Given the description of an element on the screen output the (x, y) to click on. 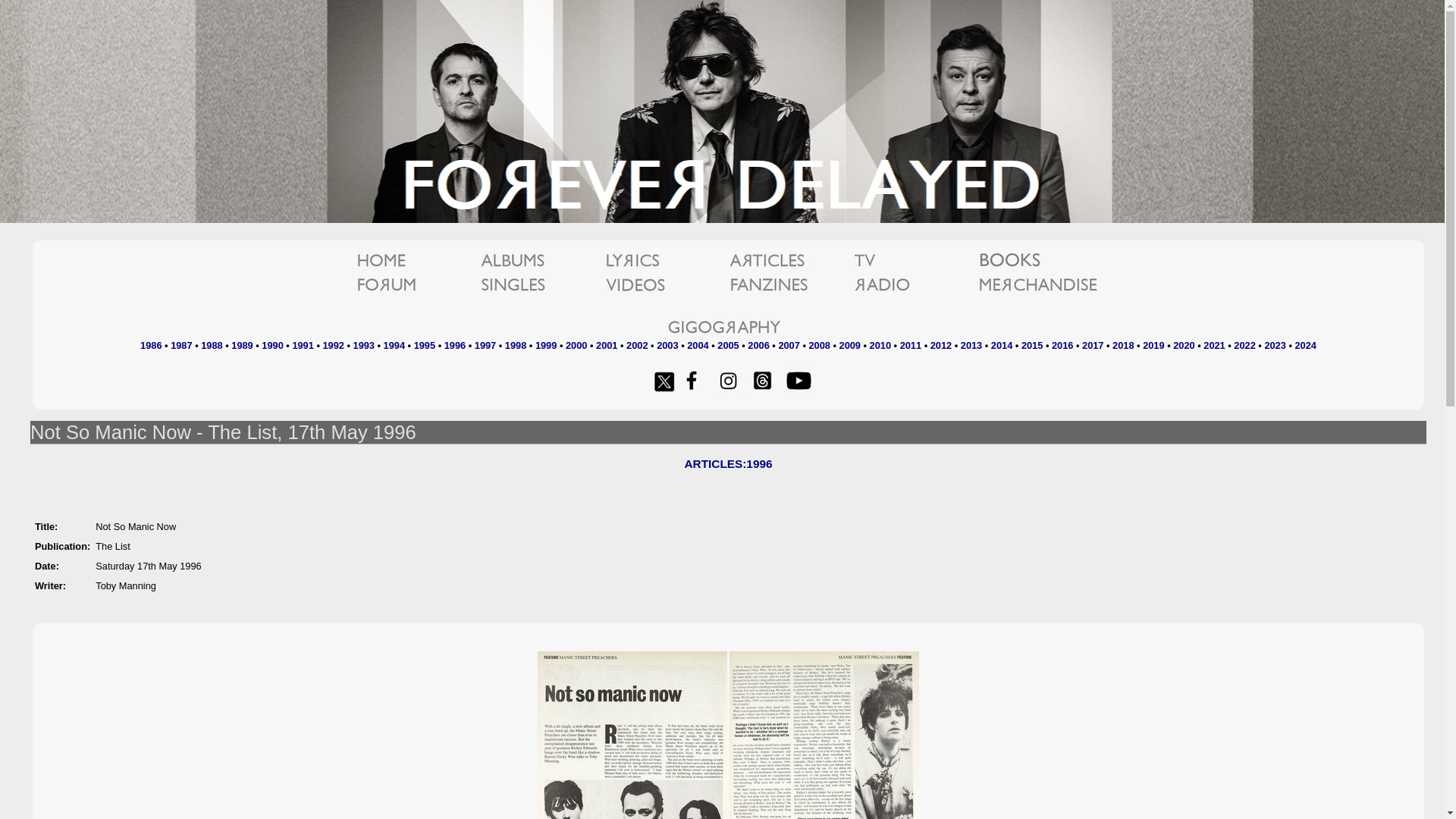
1994 (394, 345)
Singles (541, 284)
2008 (818, 345)
1999 (545, 345)
Radio (914, 284)
2006 (758, 345)
1989 (241, 345)
1995 (424, 345)
1990 (272, 345)
1991 (302, 345)
1988 (211, 345)
1989 (241, 345)
1993 (363, 345)
1997 (485, 345)
1998 (515, 345)
